Given the description of an element on the screen output the (x, y) to click on. 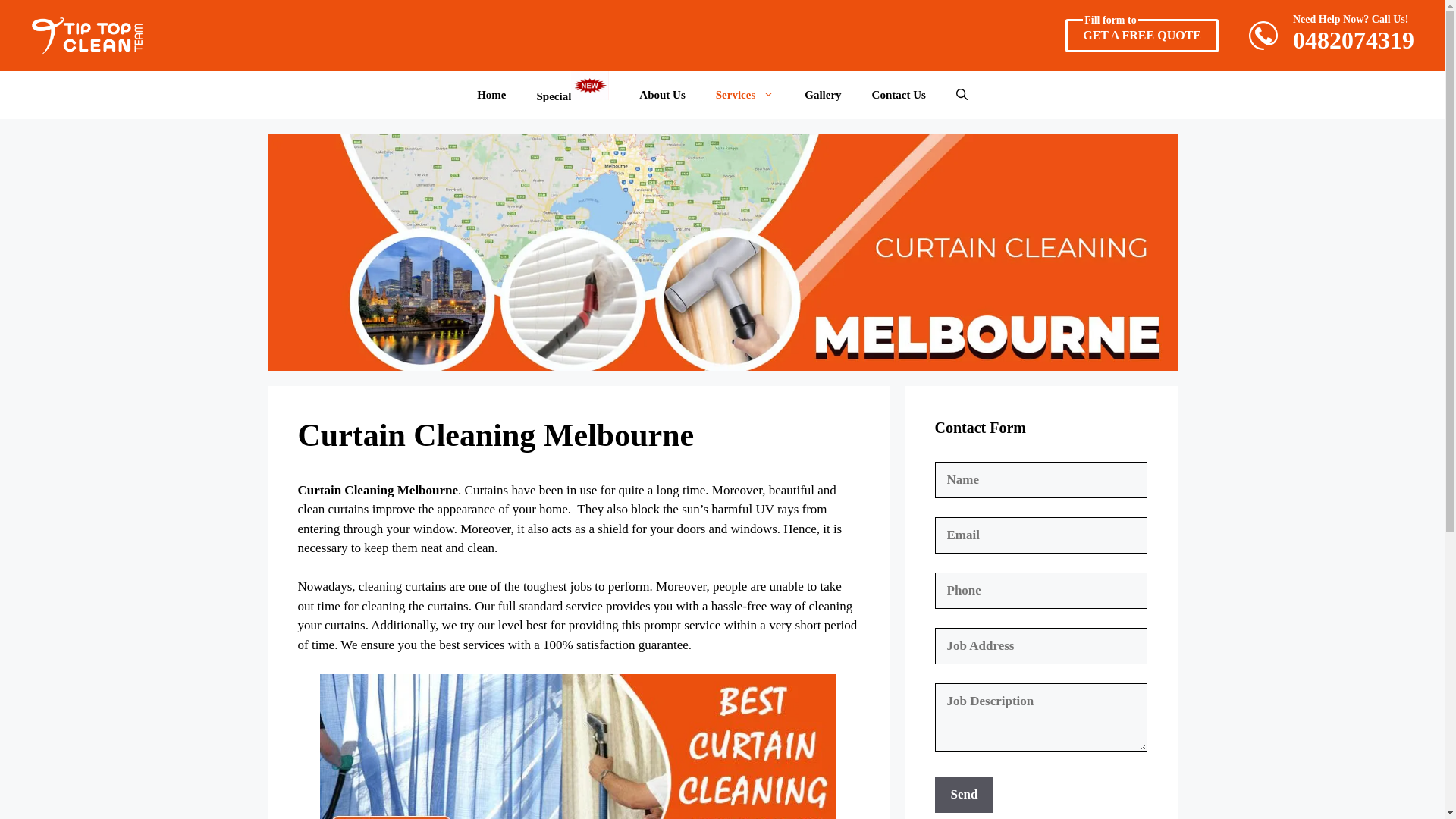
Special (572, 94)
Gallery (1352, 35)
Send (822, 94)
Contact Us (1141, 35)
Send (963, 794)
Services (898, 94)
About Us (963, 794)
Home (744, 94)
